Given the description of an element on the screen output the (x, y) to click on. 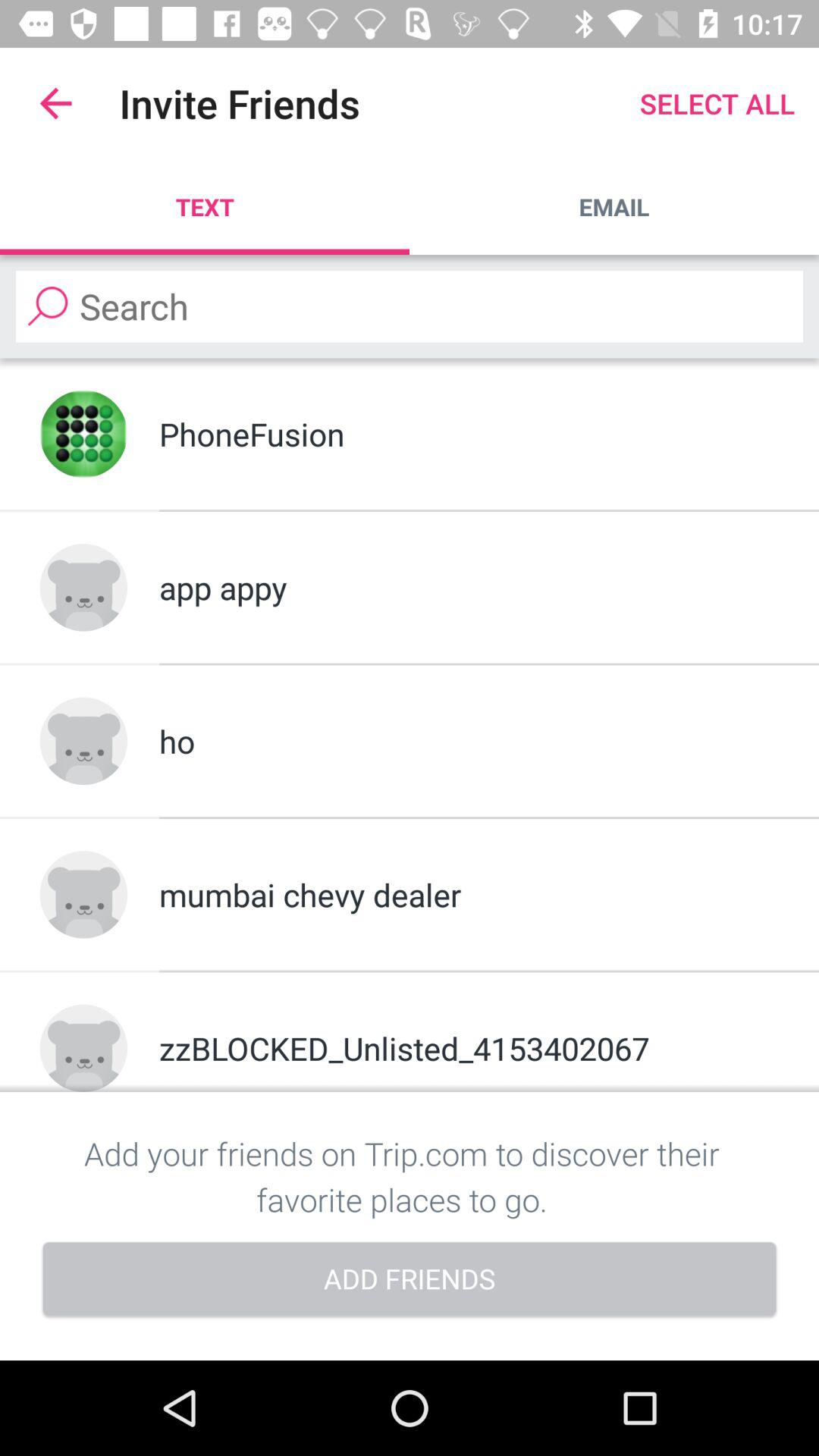
select the item above ho item (469, 587)
